Given the description of an element on the screen output the (x, y) to click on. 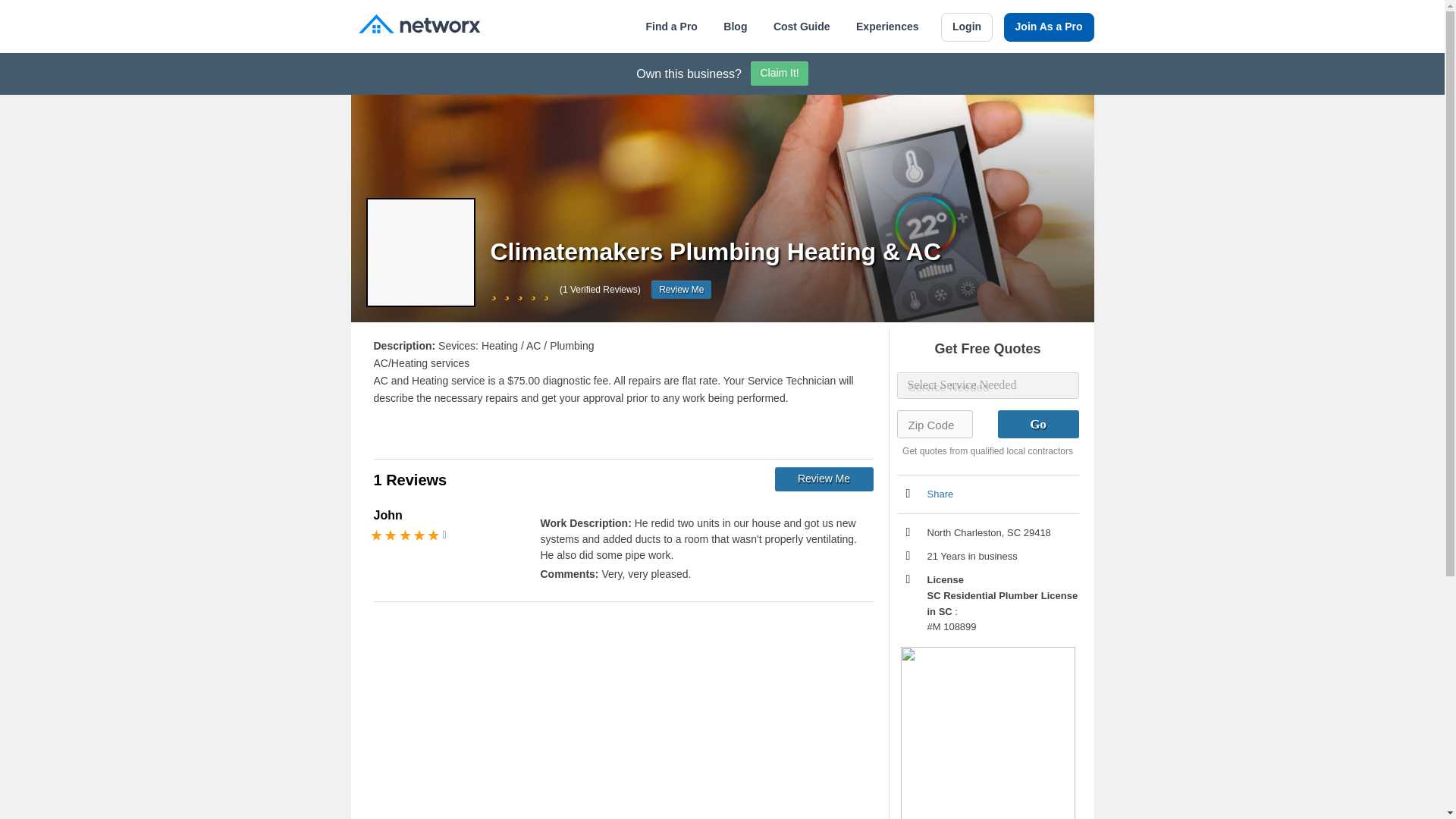
Claim It! (779, 73)
Login (966, 27)
Cost Guide (801, 26)
Review Me (823, 478)
Join As a Pro (1049, 27)
Networx (418, 25)
Go (1037, 424)
Go (1037, 424)
Review Me (680, 289)
Experiences (887, 26)
Find a Pro (670, 26)
